Given the description of an element on the screen output the (x, y) to click on. 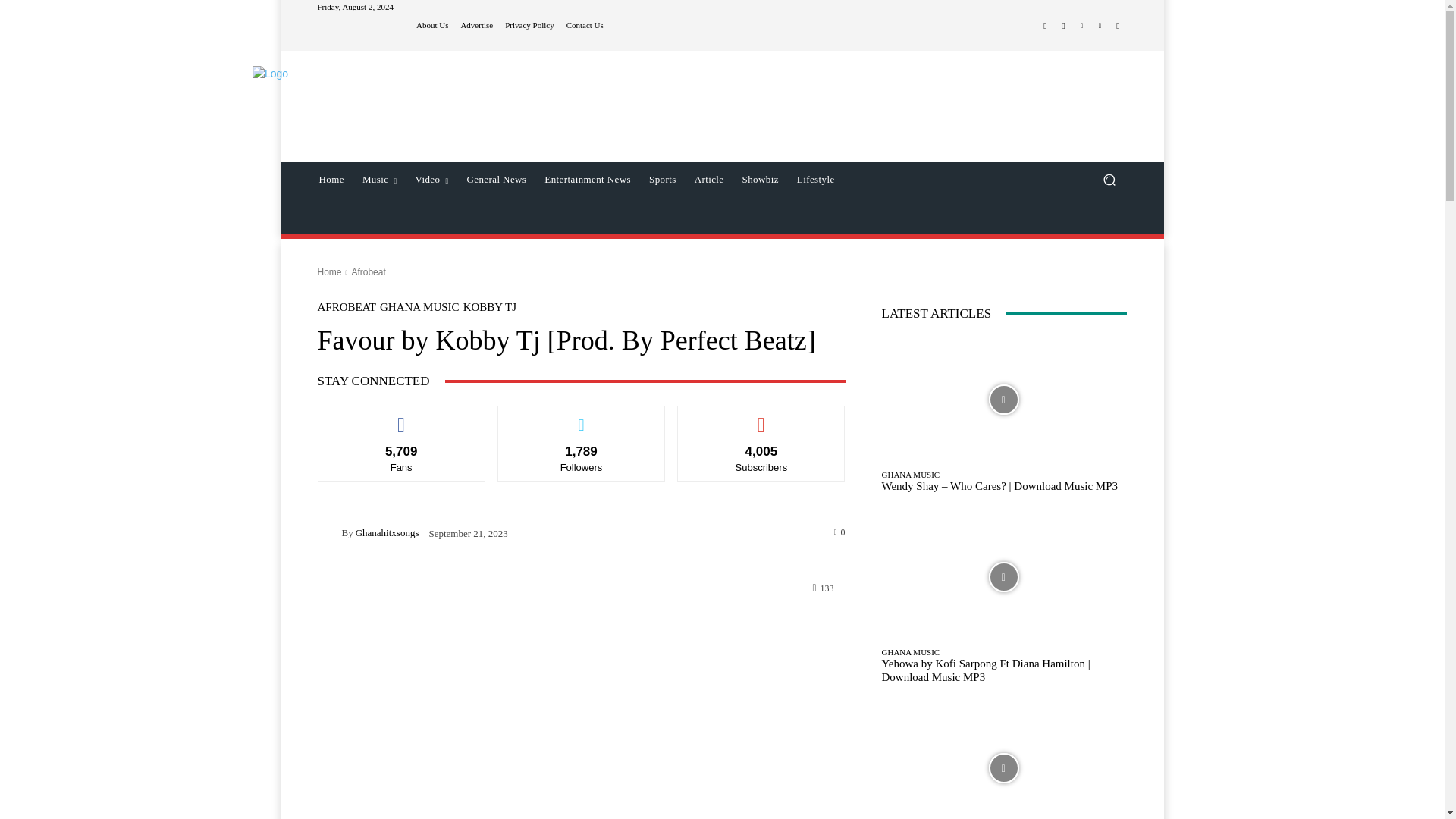
Ghanahitxsongs (328, 532)
Youtube (1117, 25)
Facebook (1044, 25)
Instagram (1062, 25)
Contact Us (585, 25)
Privacy Policy (529, 25)
Twitter (1080, 25)
Vimeo (1099, 25)
About Us (432, 25)
Advertise (476, 25)
View all posts in Afrobeat (367, 271)
